Given the description of an element on the screen output the (x, y) to click on. 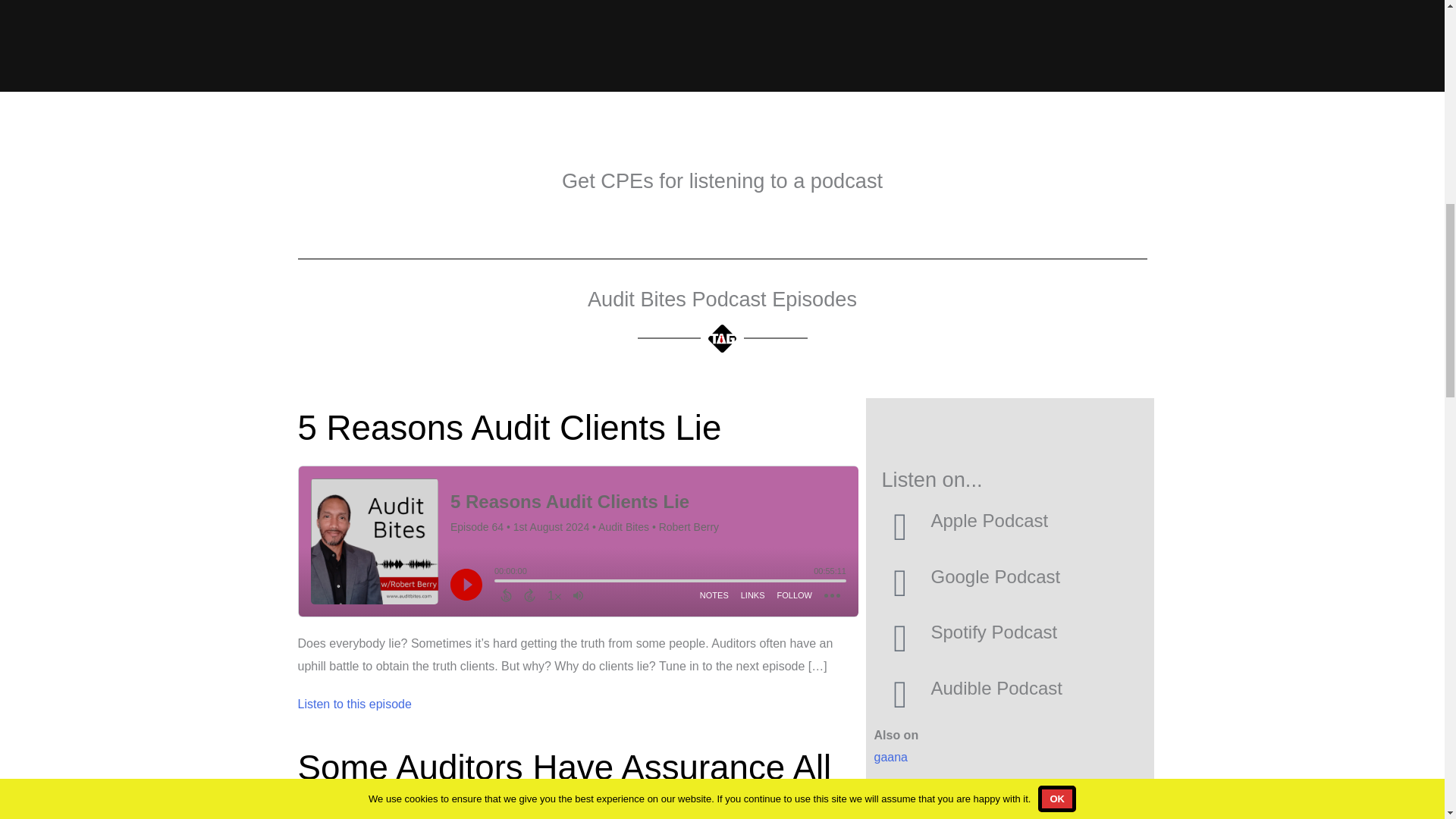
Listen to this episode (353, 703)
Some Auditors Have Assurance All Wrong (564, 783)
5 Reasons Audit Clients Lie (508, 427)
Apple Podcast (989, 520)
Google Podcast (994, 576)
Spotify Podcast (993, 631)
